Given the description of an element on the screen output the (x, y) to click on. 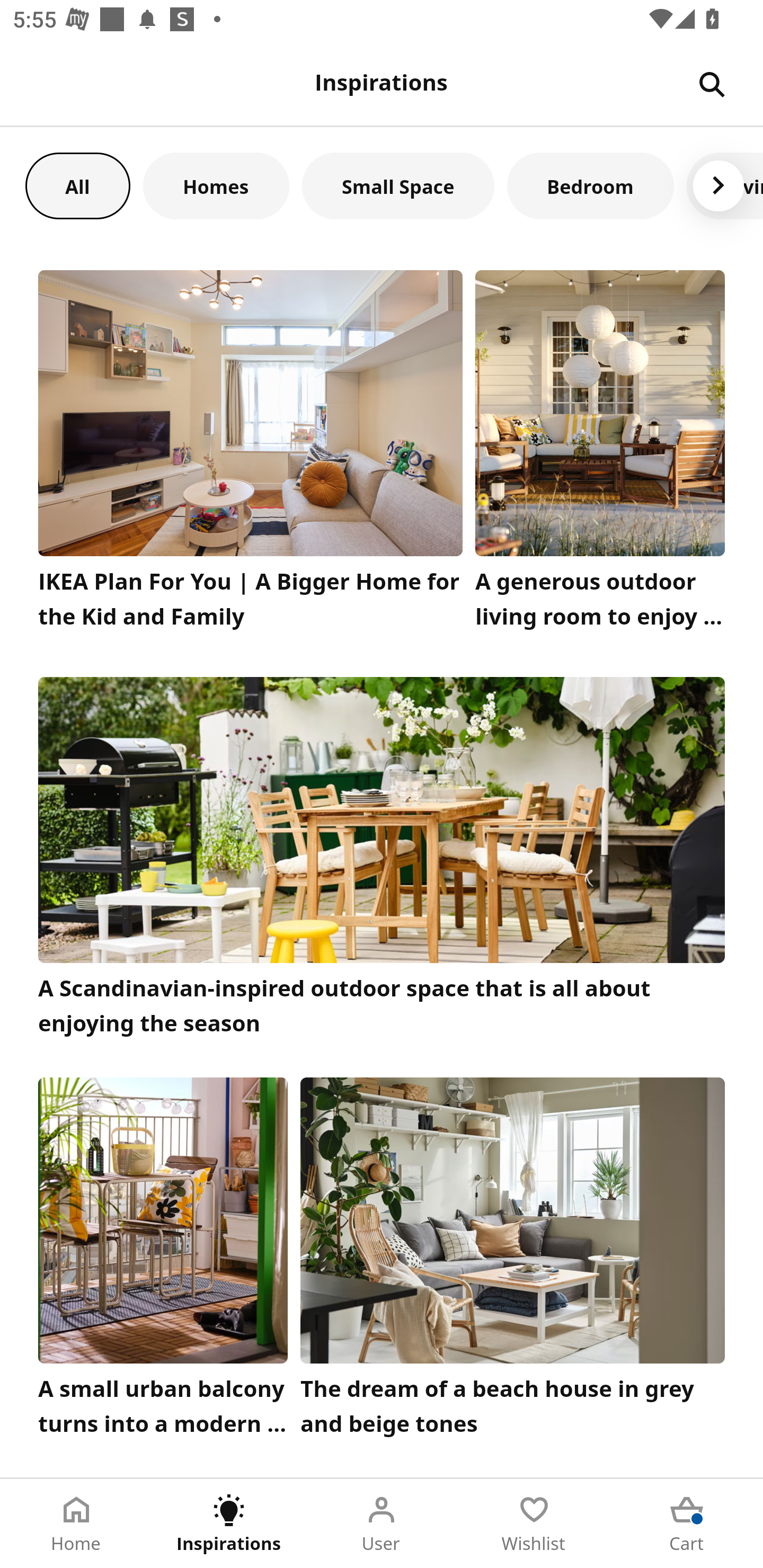
All (77, 185)
Homes (216, 185)
Small Space (398, 185)
Bedroom (590, 185)
The dream of a beach house in grey and beige tones (512, 1261)
Home
Tab 1 of 5 (76, 1522)
Inspirations
Tab 2 of 5 (228, 1522)
User
Tab 3 of 5 (381, 1522)
Wishlist
Tab 4 of 5 (533, 1522)
Cart
Tab 5 of 5 (686, 1522)
